Given the description of an element on the screen output the (x, y) to click on. 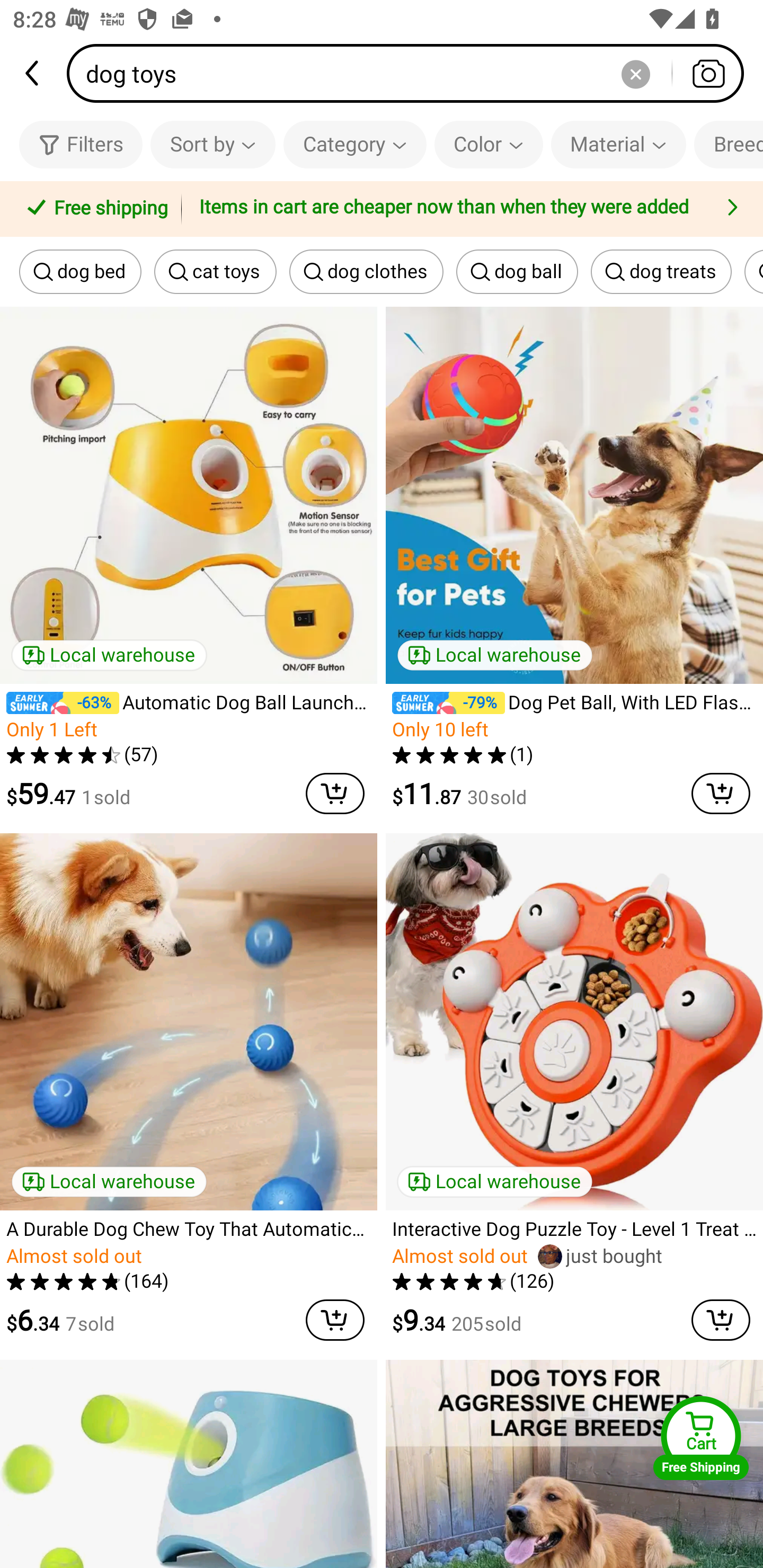
back (33, 72)
dog toys (411, 73)
Delete search history (635, 73)
Search by photo (708, 73)
Filters (80, 143)
Sort by (212, 143)
Category (354, 143)
Color (488, 143)
Material (617, 143)
Breed Recommendation (728, 143)
 Free shipping (93, 208)
dog bed (80, 271)
cat toys (215, 271)
dog clothes (366, 271)
dog ball (517, 271)
dog treats (660, 271)
Cart Free Shipping Cart (701, 1437)
